Given the description of an element on the screen output the (x, y) to click on. 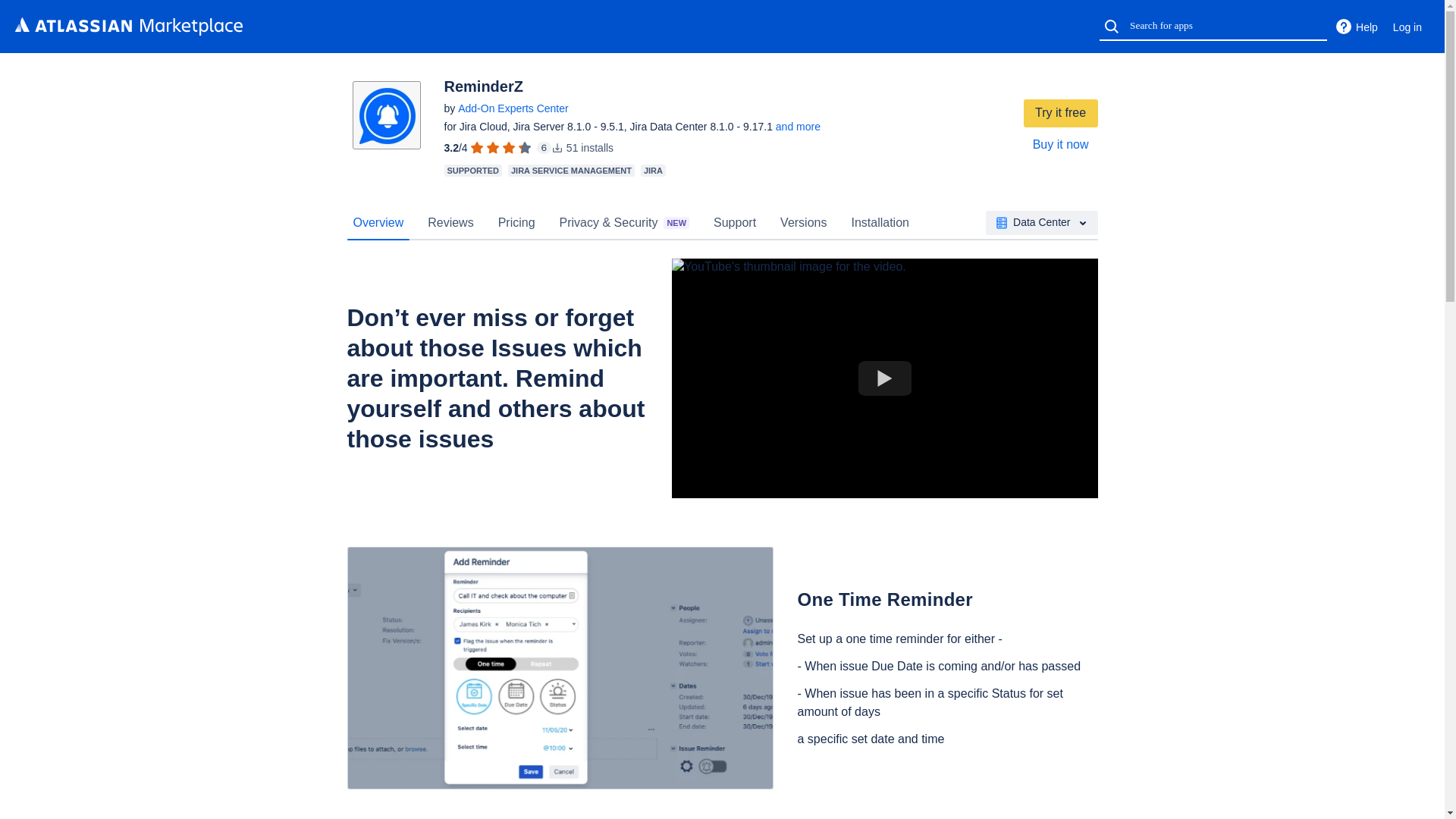
Buy it now (1060, 144)
Help (1356, 26)
View version history for more details (798, 126)
Try it free (1060, 113)
Add-On Experts Center (513, 108)
Atlassian Marketplace (128, 26)
and more (798, 126)
Log in (1407, 26)
Data Center (1041, 222)
